Given the description of an element on the screen output the (x, y) to click on. 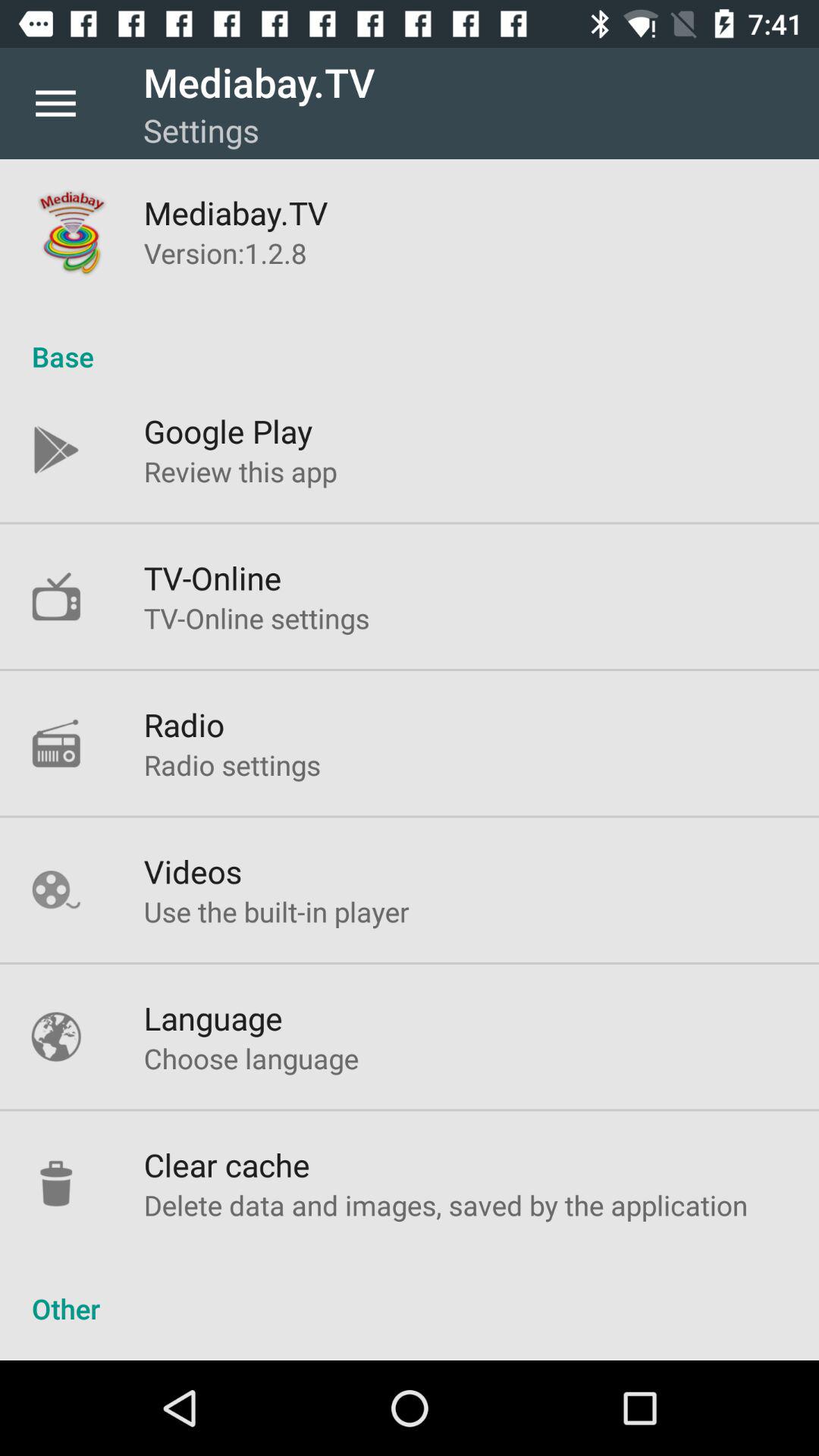
jump to delete data and (445, 1204)
